Given the description of an element on the screen output the (x, y) to click on. 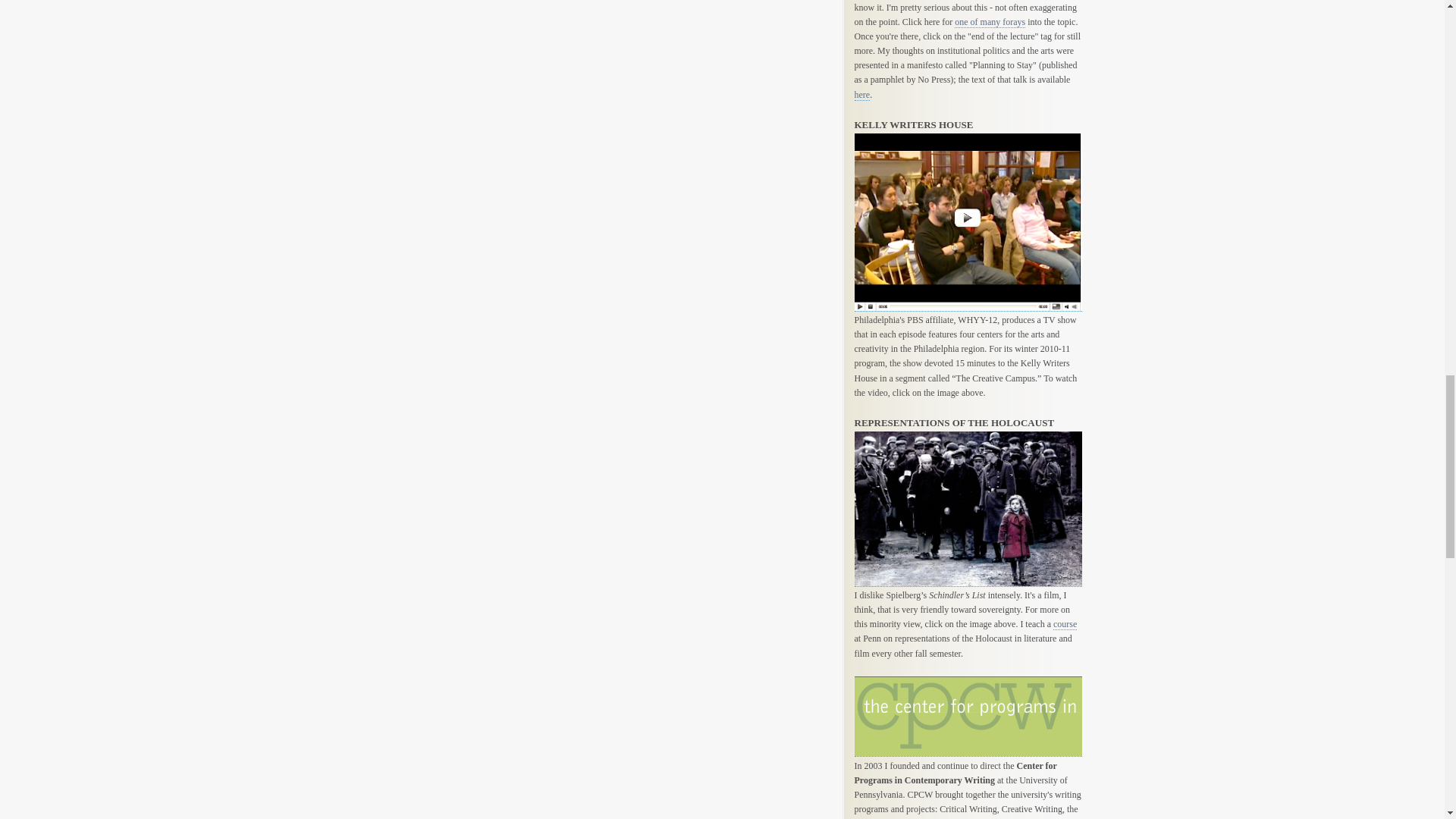
one of many forays (990, 21)
here (861, 94)
course (1064, 624)
